Given the description of an element on the screen output the (x, y) to click on. 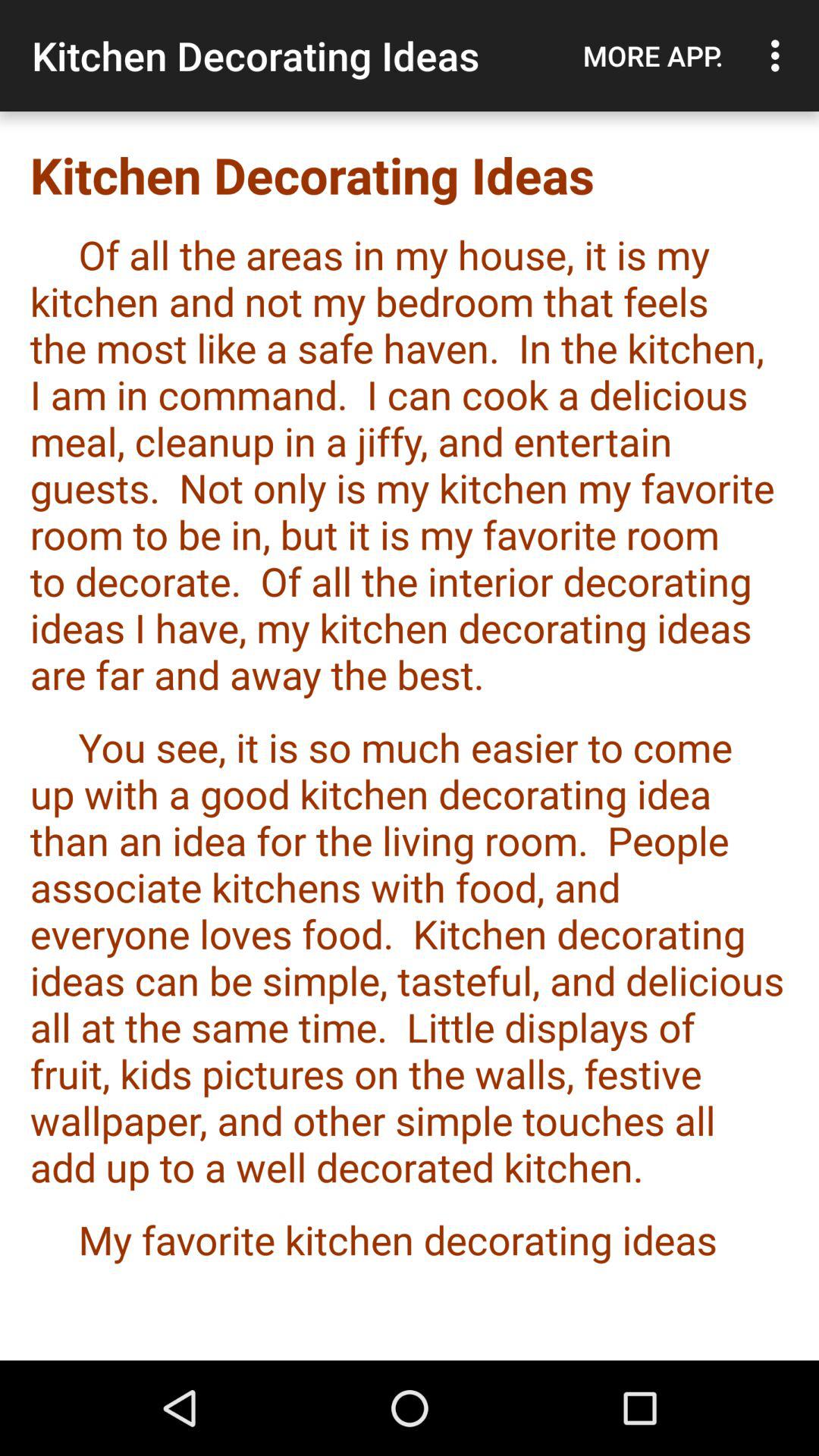
turn on icon to the right of kitchen decorating ideas icon (653, 55)
